Given the description of an element on the screen output the (x, y) to click on. 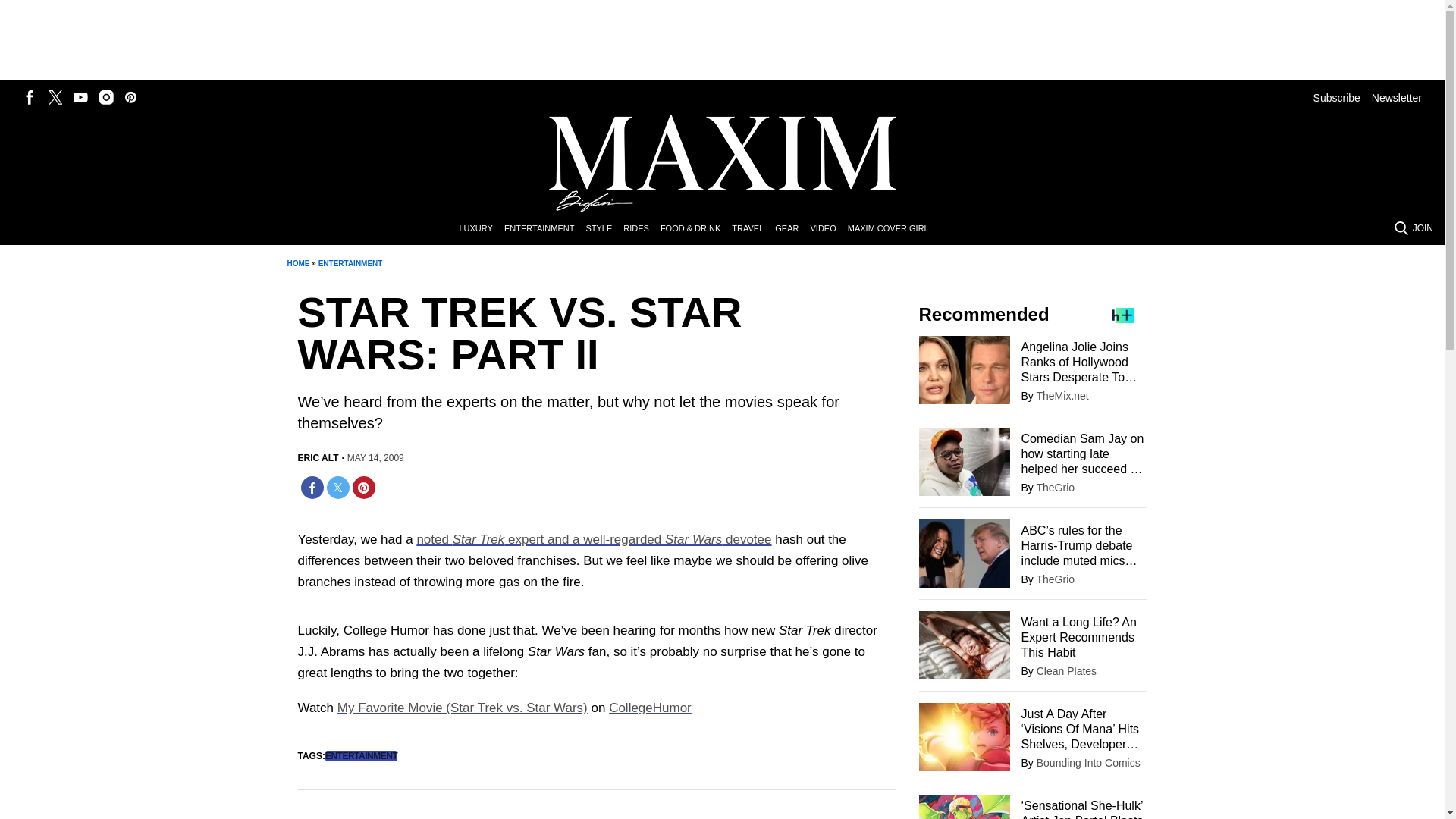
STYLE (604, 228)
Newsletter (1396, 97)
Share on Facebook (311, 486)
ENTERTAINMENT (544, 228)
LUXURY (480, 228)
Follow us on Instagram (106, 97)
Follow us on Twitter (55, 97)
JOIN (1422, 228)
MAXIM COVER GIRL (893, 228)
Follow us on Youtube (80, 97)
